Given the description of an element on the screen output the (x, y) to click on. 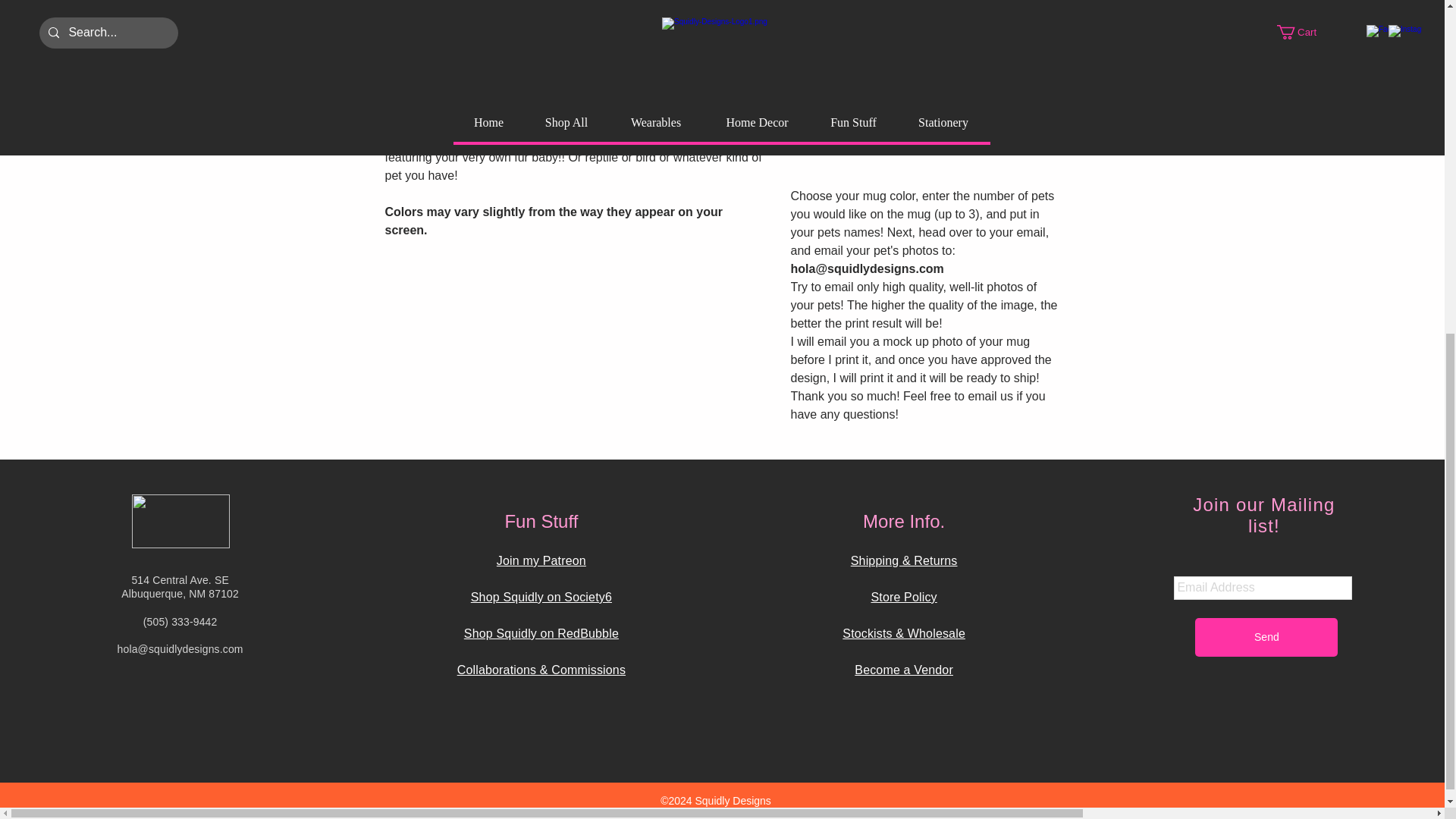
Add to Cart (924, 52)
Join my Patreon (541, 560)
Shop Squidly on RedBubble (541, 633)
Buy Now (924, 92)
1 (823, 6)
Use right and left arrows to navigate between tabs (840, 148)
Shop Squidly on Society6 (540, 596)
